Given the description of an element on the screen output the (x, y) to click on. 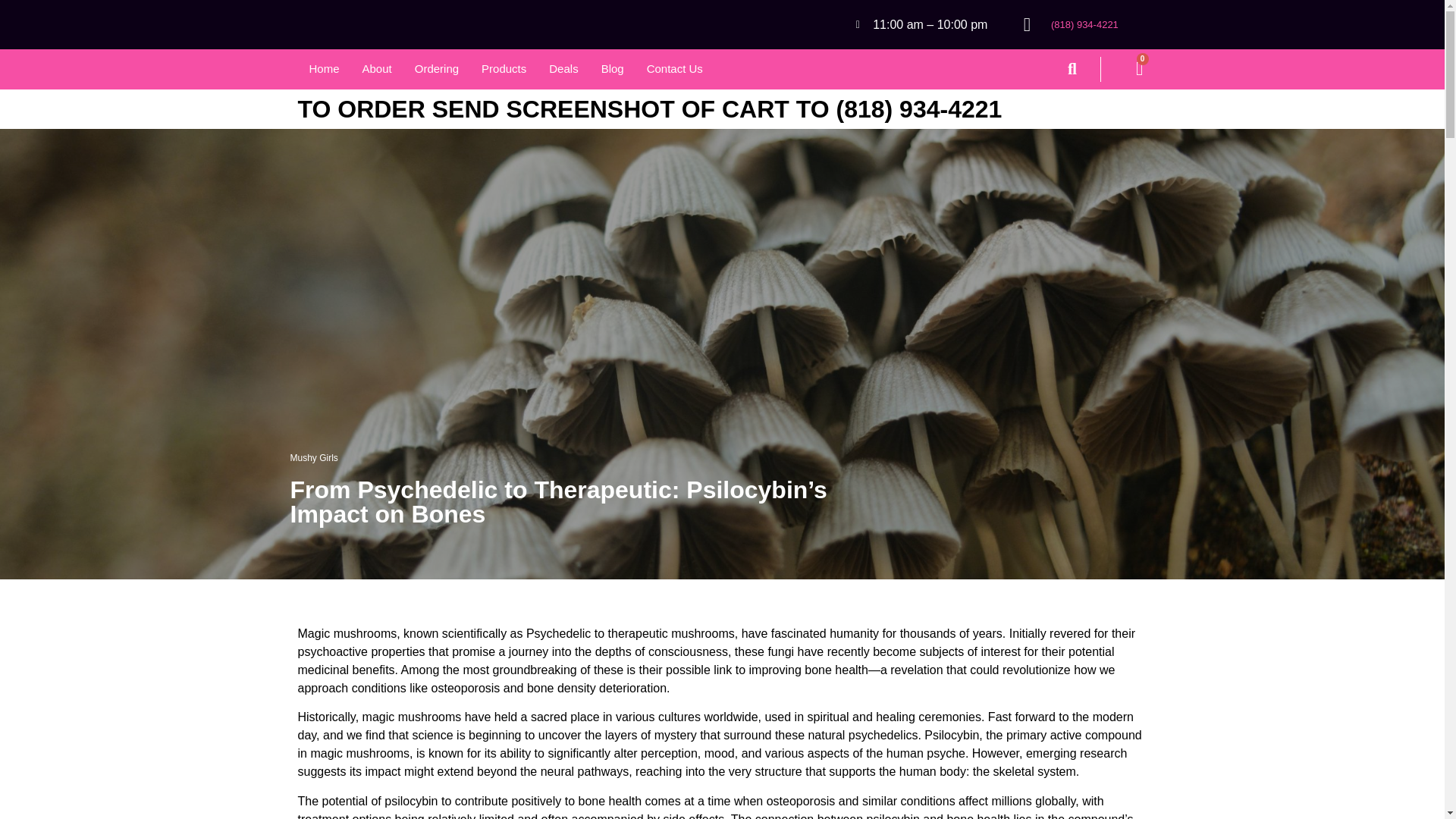
Contact Us (674, 69)
Ordering (436, 69)
About (376, 69)
Home (323, 69)
Products (503, 69)
Deals (563, 69)
Blog (611, 69)
